Given the description of an element on the screen output the (x, y) to click on. 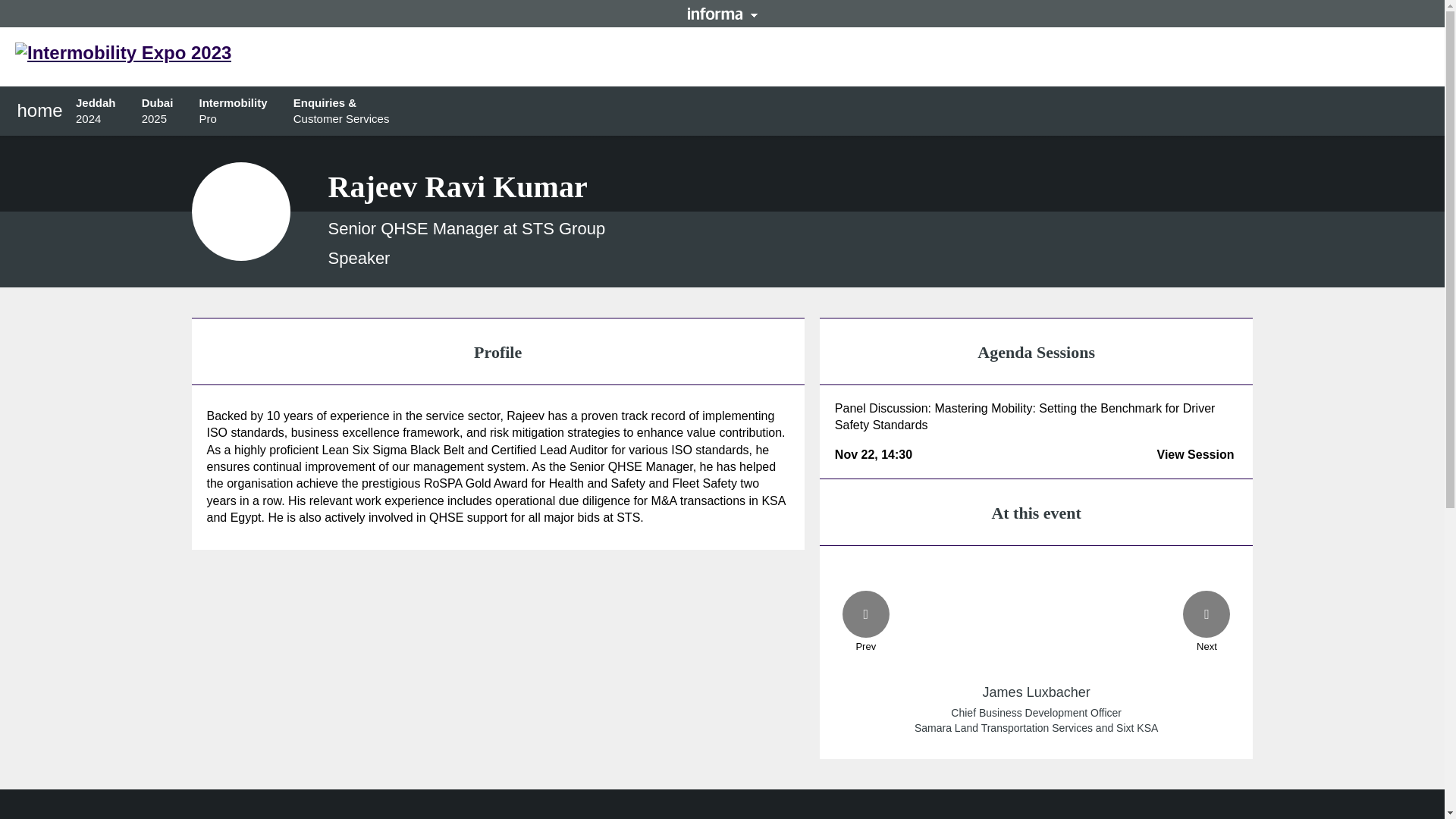
home (159, 110)
